Given the description of an element on the screen output the (x, y) to click on. 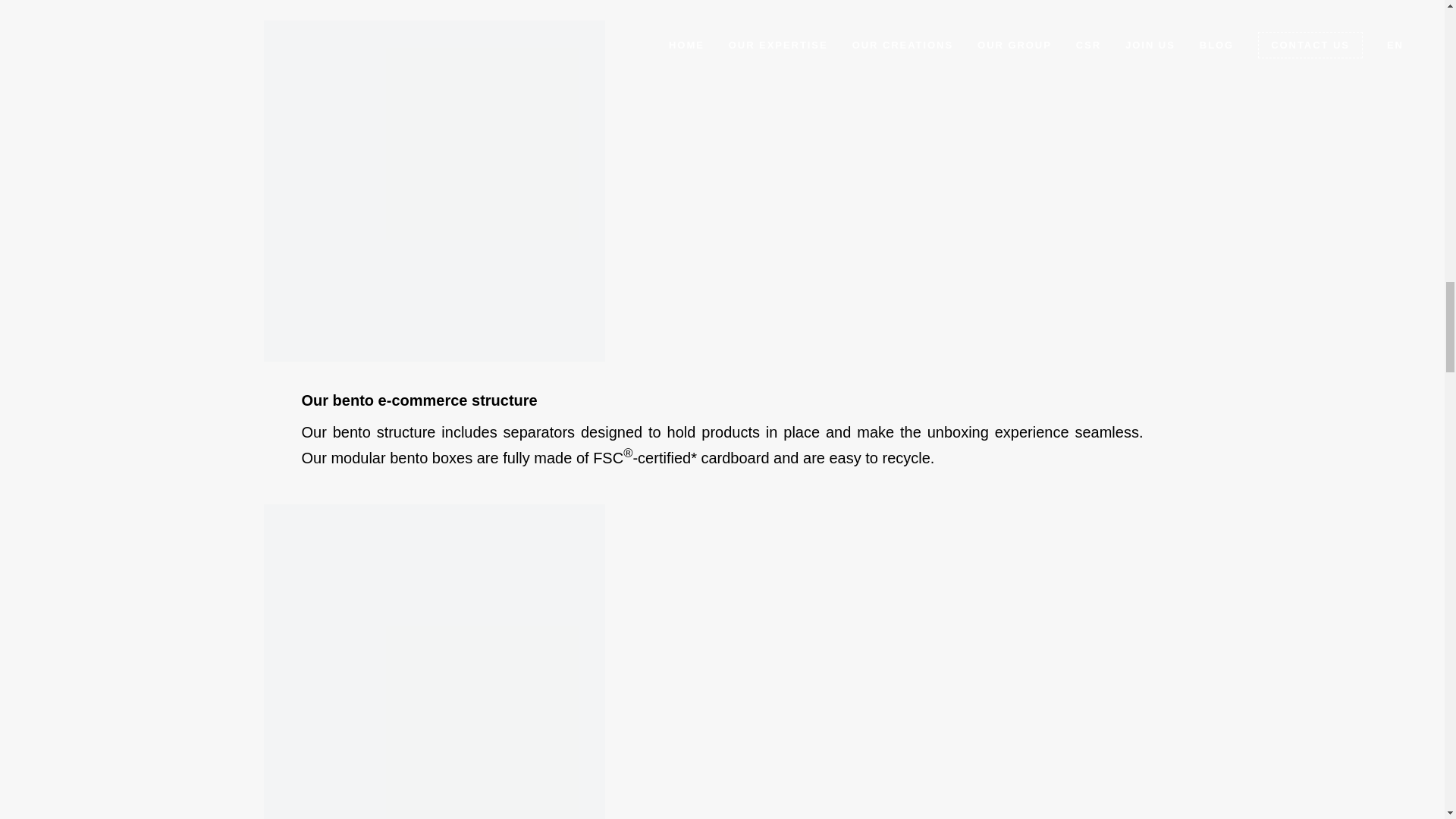
bento (434, 190)
pouche (434, 661)
